Given the description of an element on the screen output the (x, y) to click on. 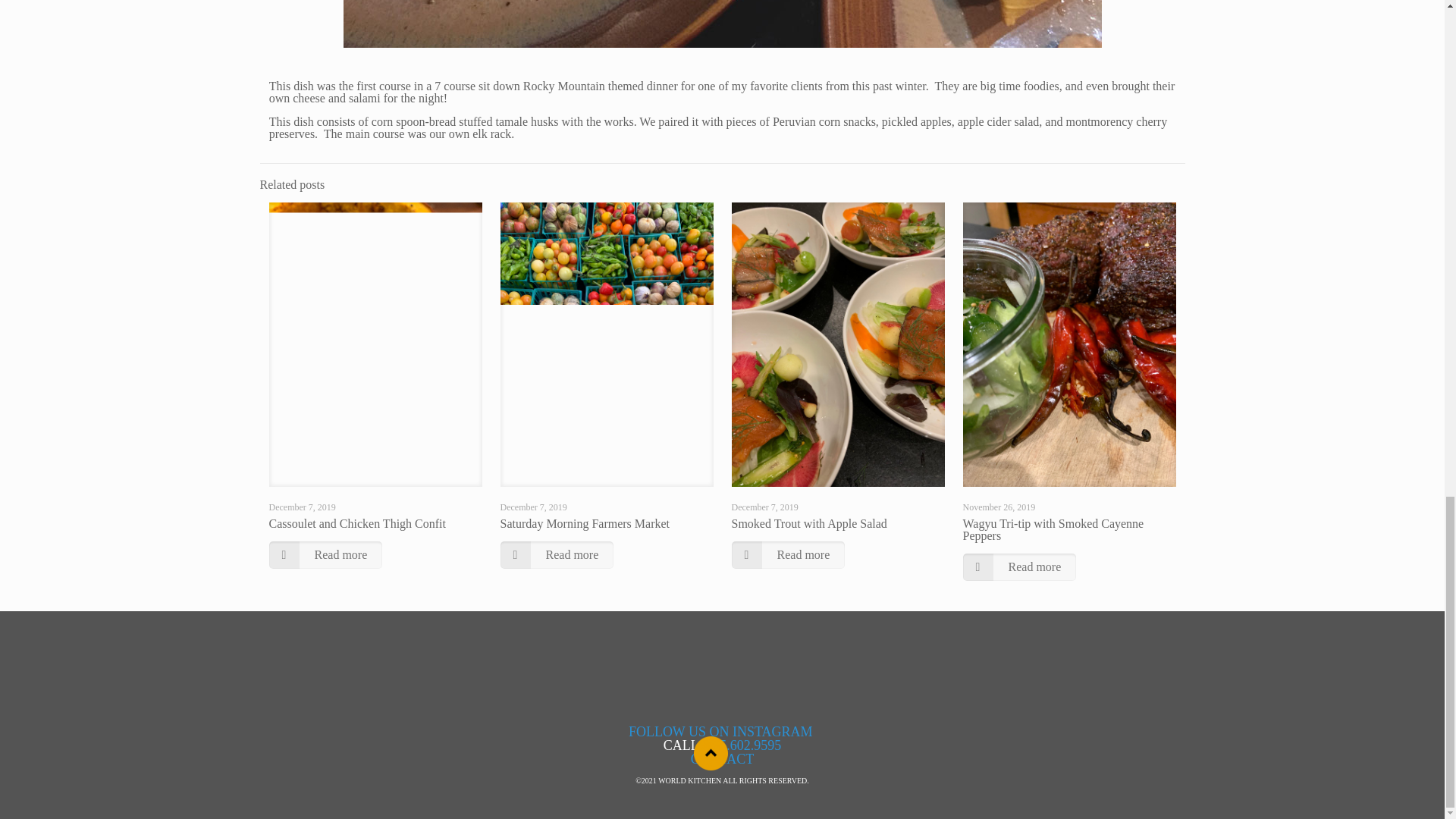
Read more (557, 554)
Read more (1019, 566)
Saturday Morning Farmers Market (584, 522)
Smoked Trout with Apple Salad (808, 522)
Read more (324, 554)
Wagyu Tri-tip with Smoked Cayenne Peppers (1053, 529)
435.602.9595 (743, 744)
CONTACT (722, 758)
Read more (787, 554)
FOLLOW US ON INSTAGRAM  (721, 731)
